Given the description of an element on the screen output the (x, y) to click on. 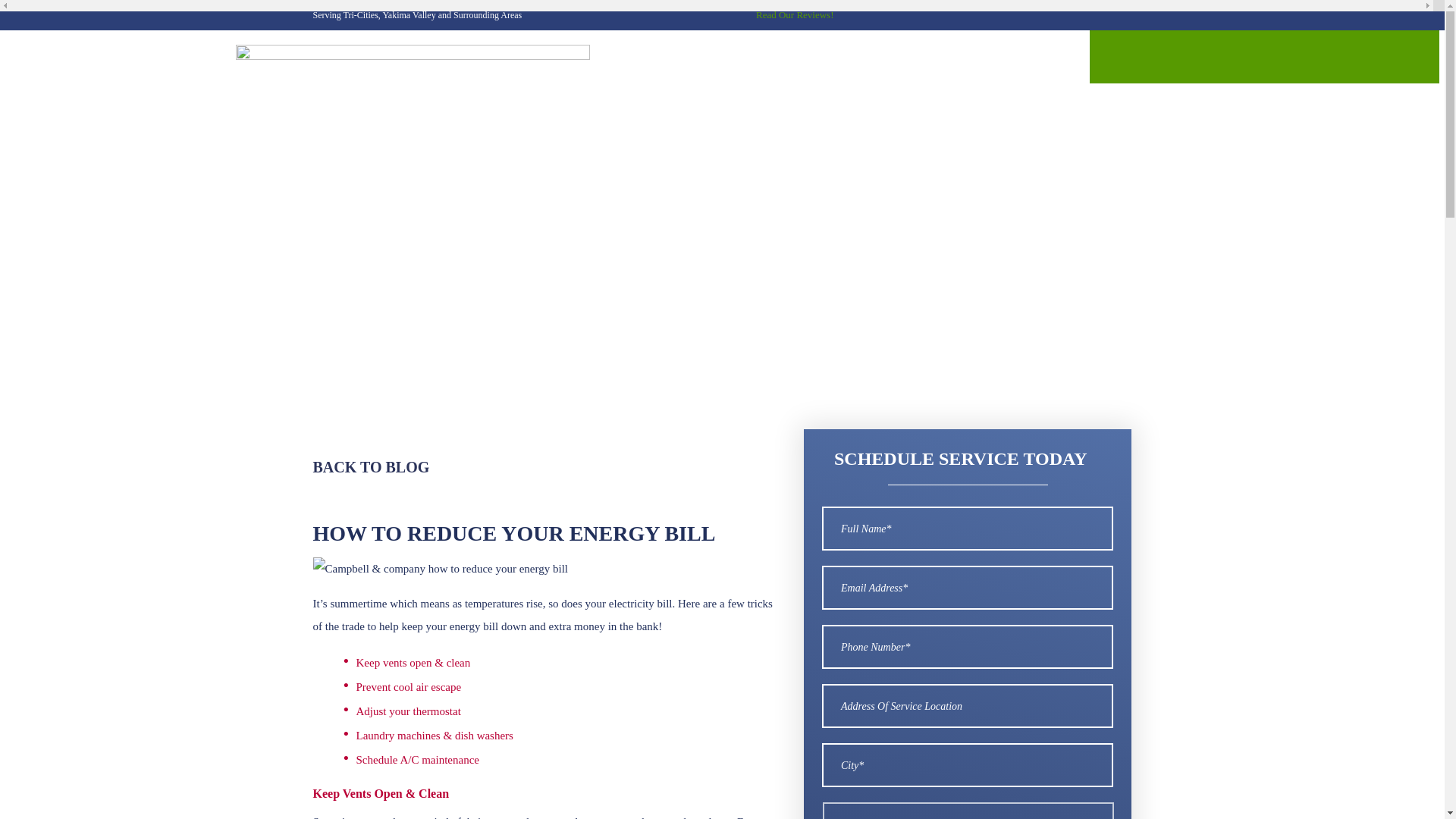
  Read Our Reviews! (791, 14)
